Given the description of an element on the screen output the (x, y) to click on. 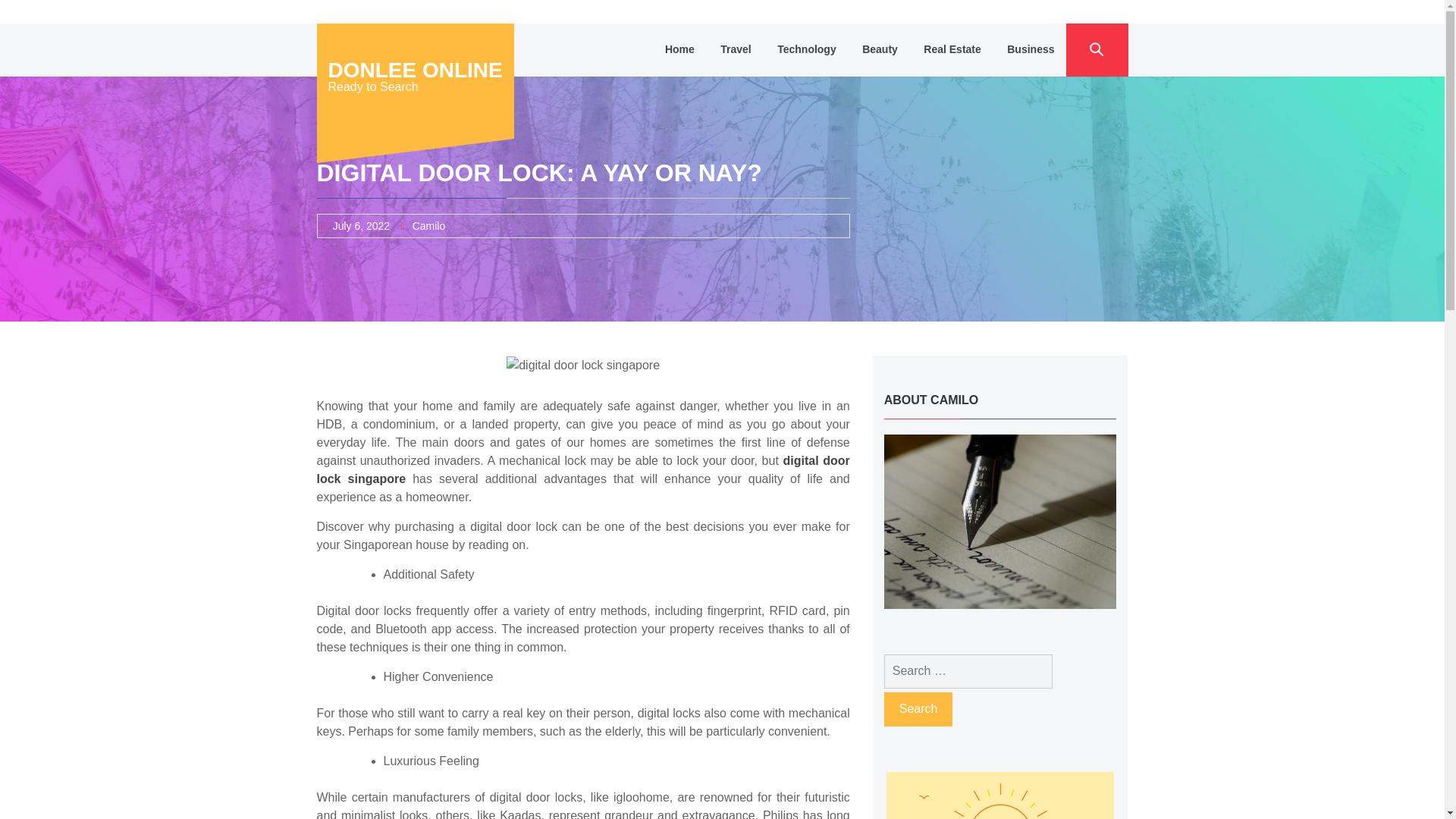
Business (1030, 49)
Real Estate (951, 49)
Search (918, 709)
Search (918, 709)
Travel (735, 49)
Camilo (428, 225)
Search (918, 709)
digital door lock singapore (583, 469)
Beauty (879, 49)
Technology (806, 49)
July 6, 2022 (361, 225)
DONLEE ONLINE (414, 69)
Home (679, 49)
